Given the description of an element on the screen output the (x, y) to click on. 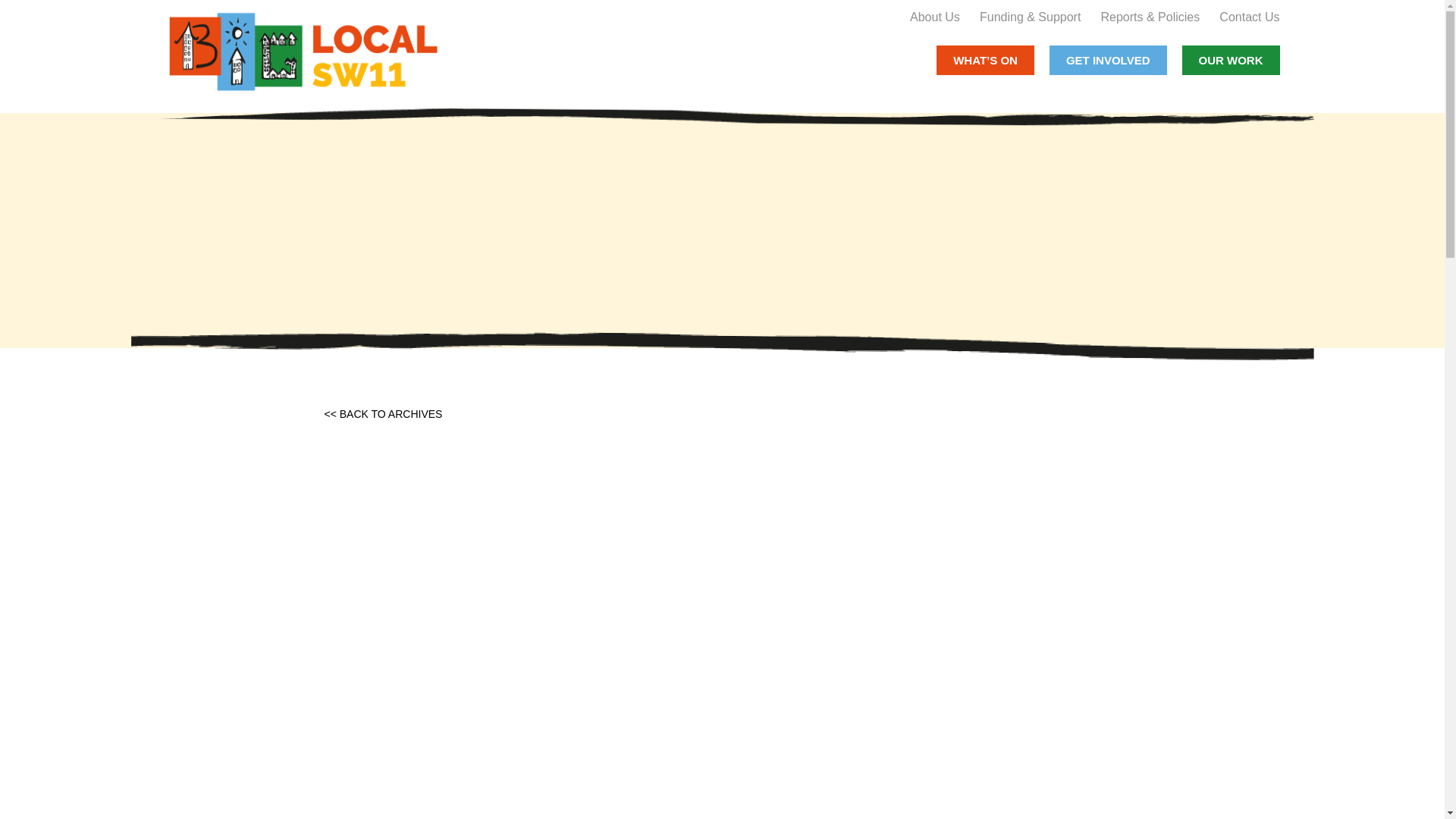
GET INVOLVED (1108, 59)
Contact Us (1249, 16)
About Us (934, 16)
OUR WORK (1230, 59)
BACK TO ARCHIVES (390, 413)
